Given the description of an element on the screen output the (x, y) to click on. 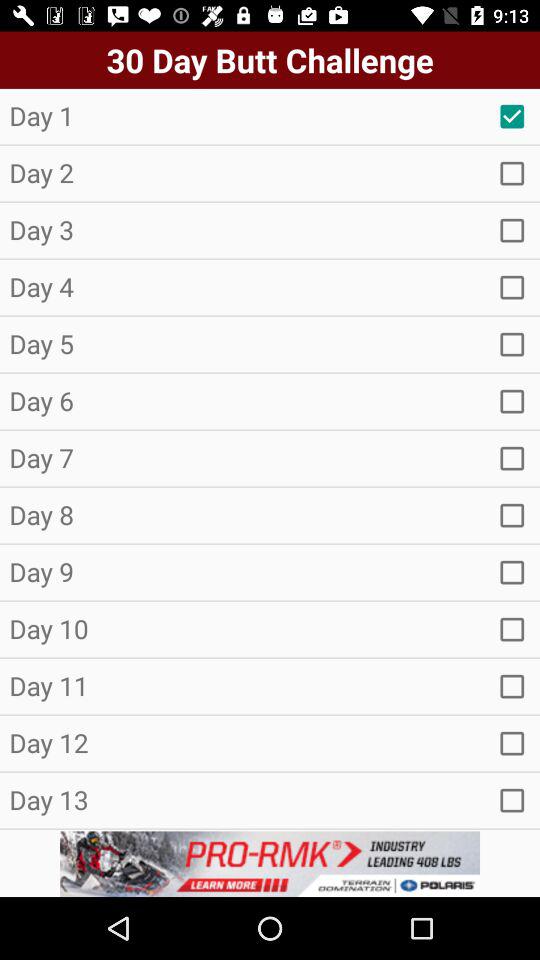
option button (512, 173)
